Given the description of an element on the screen output the (x, y) to click on. 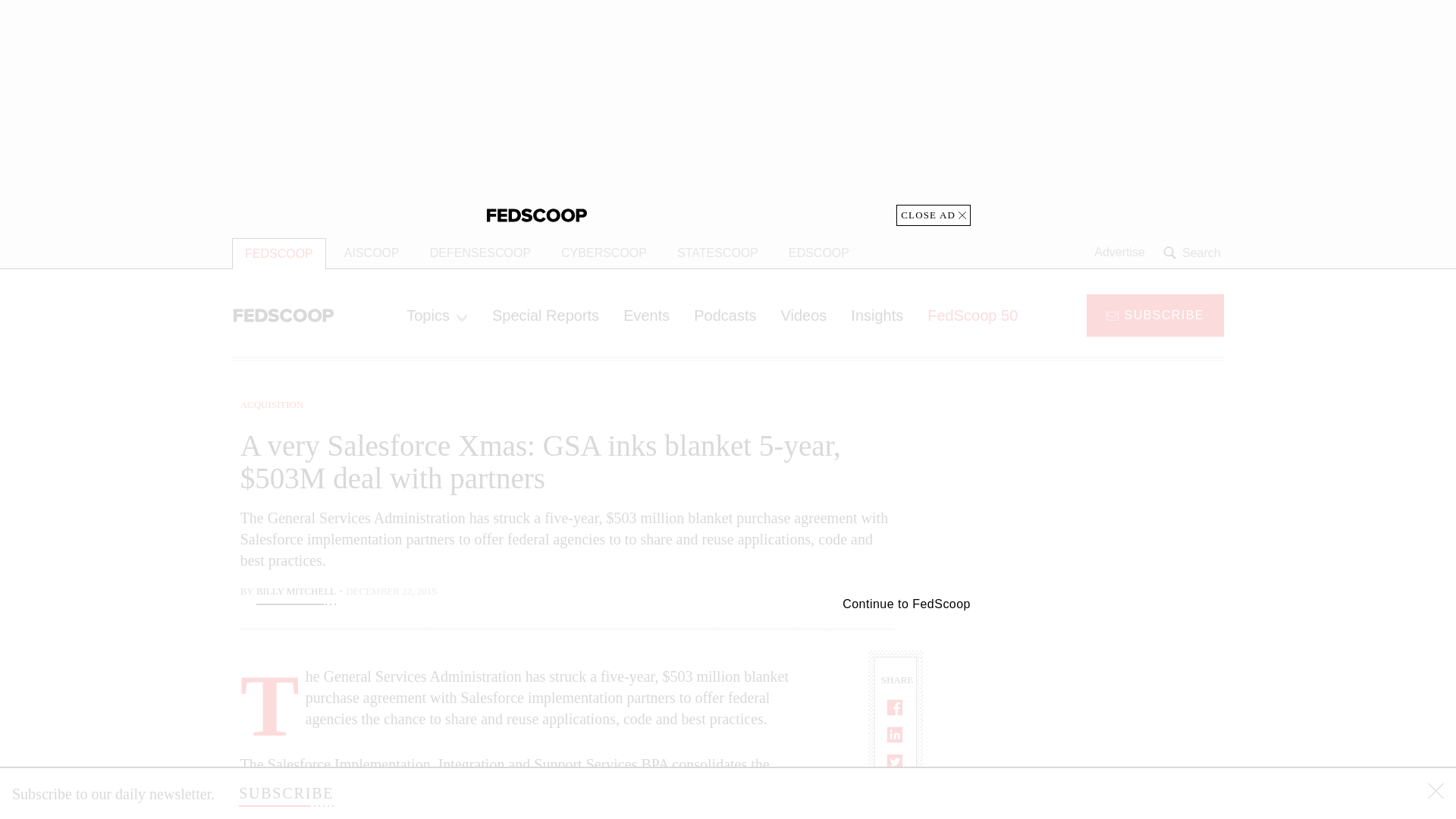
3rd party ad content (1101, 705)
Events (646, 315)
SUBSCRIBE (1155, 314)
SUBSCRIBE (285, 793)
Special Reports (545, 315)
Insights (876, 315)
3rd party ad content (727, 112)
Videos (804, 315)
